Given the description of an element on the screen output the (x, y) to click on. 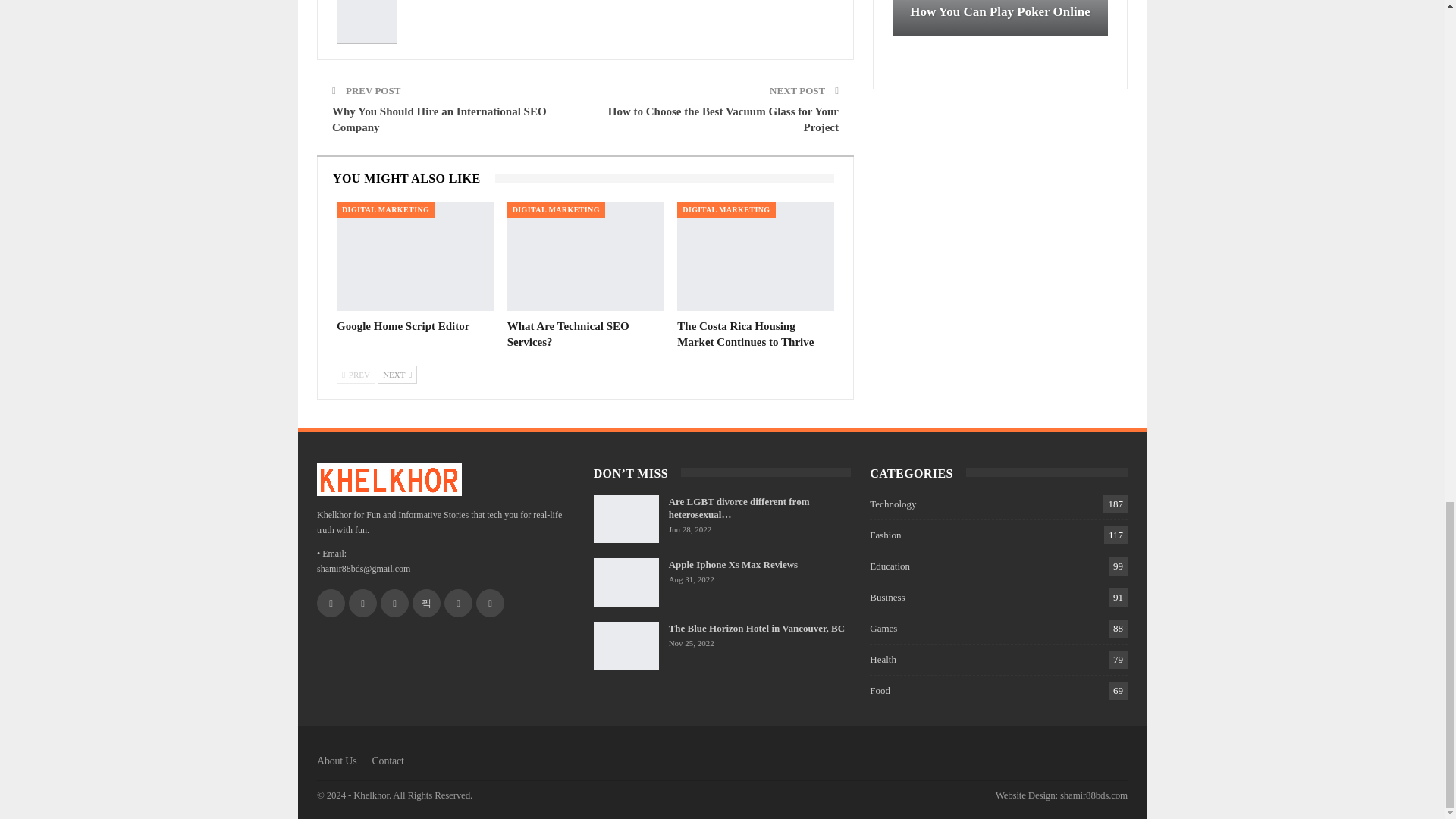
Next (396, 374)
What Are Technical SEO Services? (584, 256)
Google Home Script Editor (414, 256)
The Costa Rica Housing Market Continues to Thrive (755, 256)
The Costa Rica Housing Market Continues to Thrive (745, 334)
Previous (355, 374)
Google Home Script Editor (402, 326)
What Are Technical SEO Services? (567, 334)
